Given the description of an element on the screen output the (x, y) to click on. 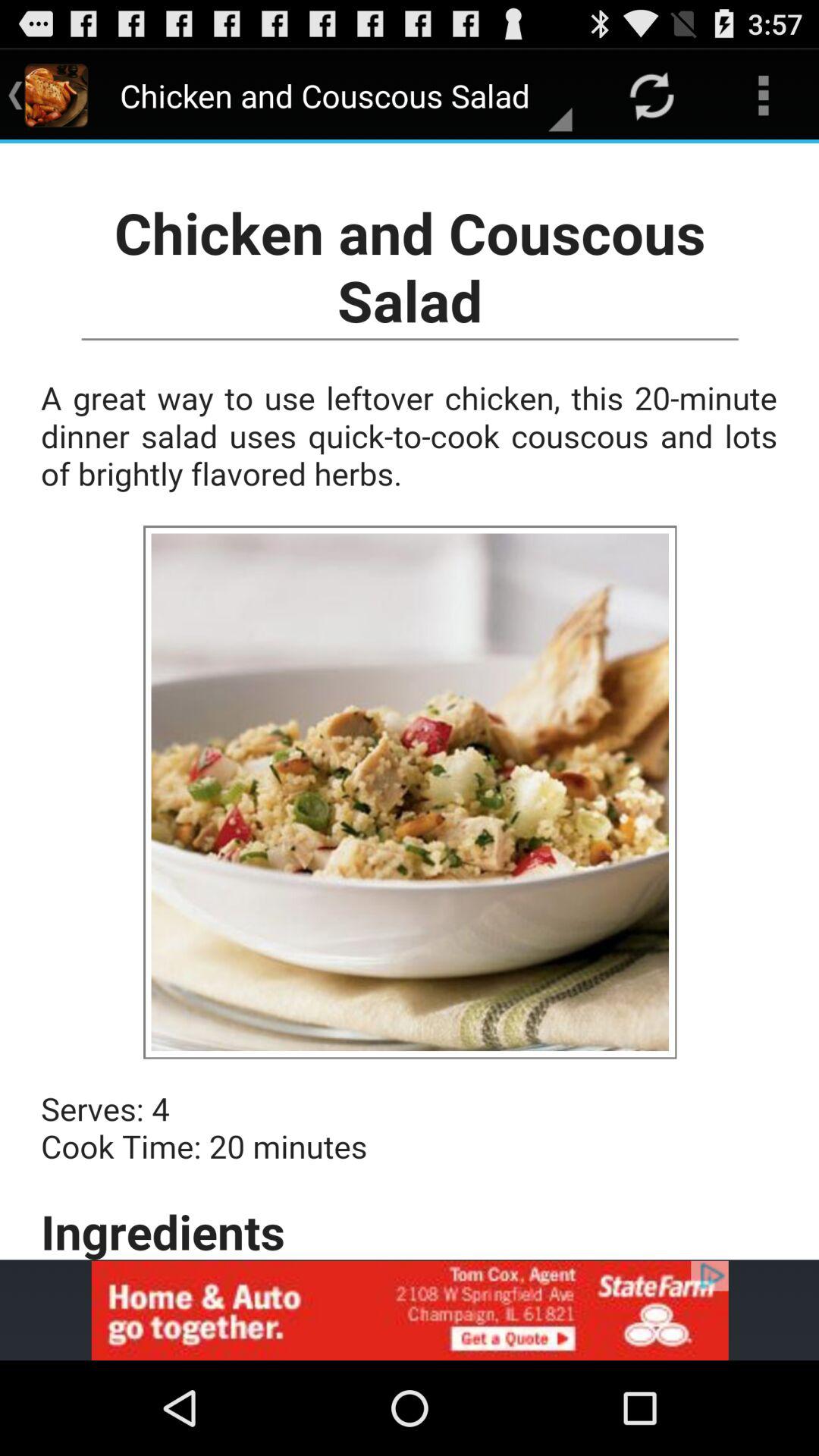
click advertisement (409, 1310)
